Given the description of an element on the screen output the (x, y) to click on. 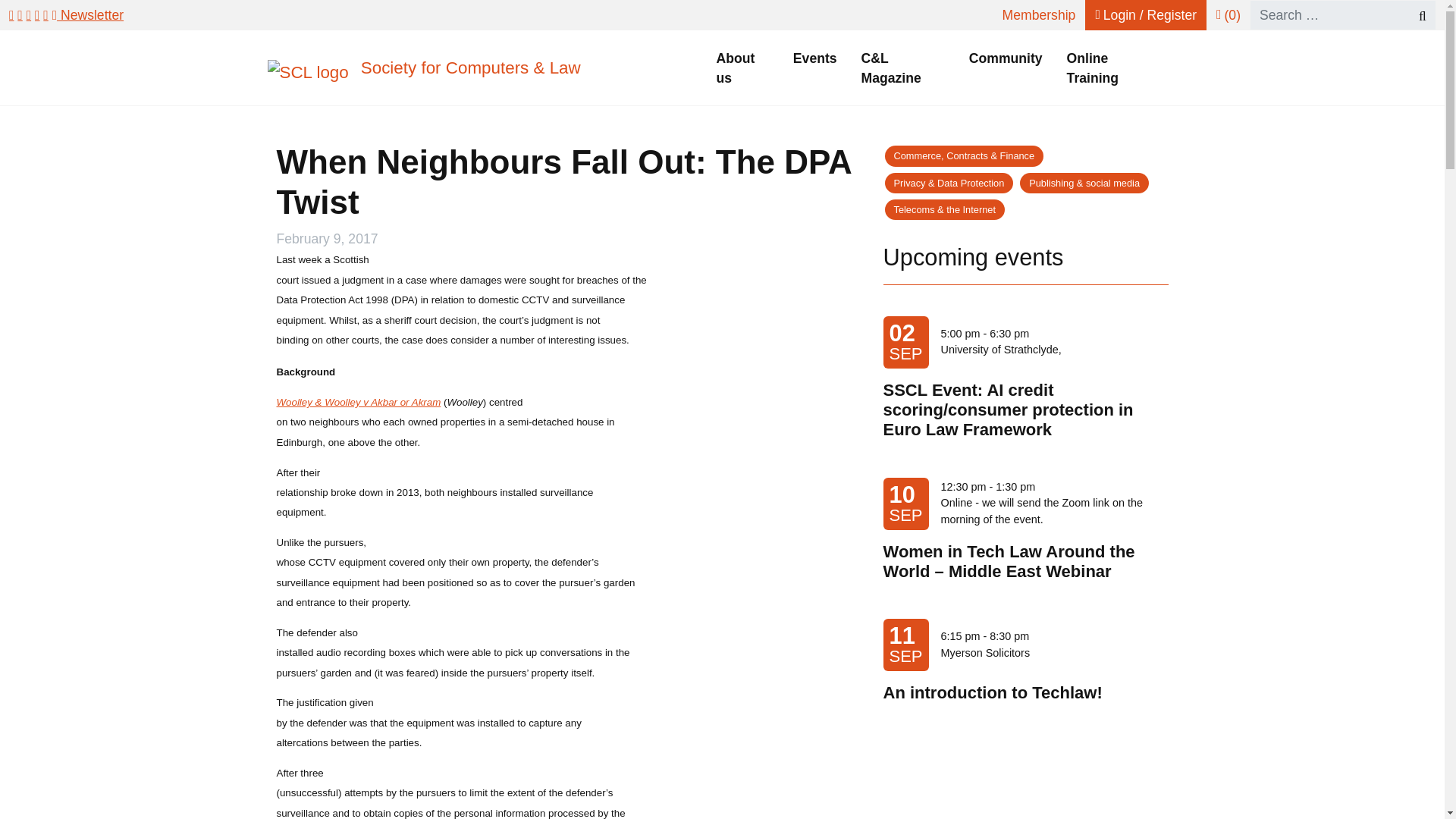
Search (1415, 14)
Events (814, 58)
Online Training (1111, 68)
Events (814, 58)
Community (1005, 58)
Shopping basket (1228, 15)
About us (741, 68)
Community (1005, 58)
Newsletter (87, 14)
Membership (1039, 15)
